Given the description of an element on the screen output the (x, y) to click on. 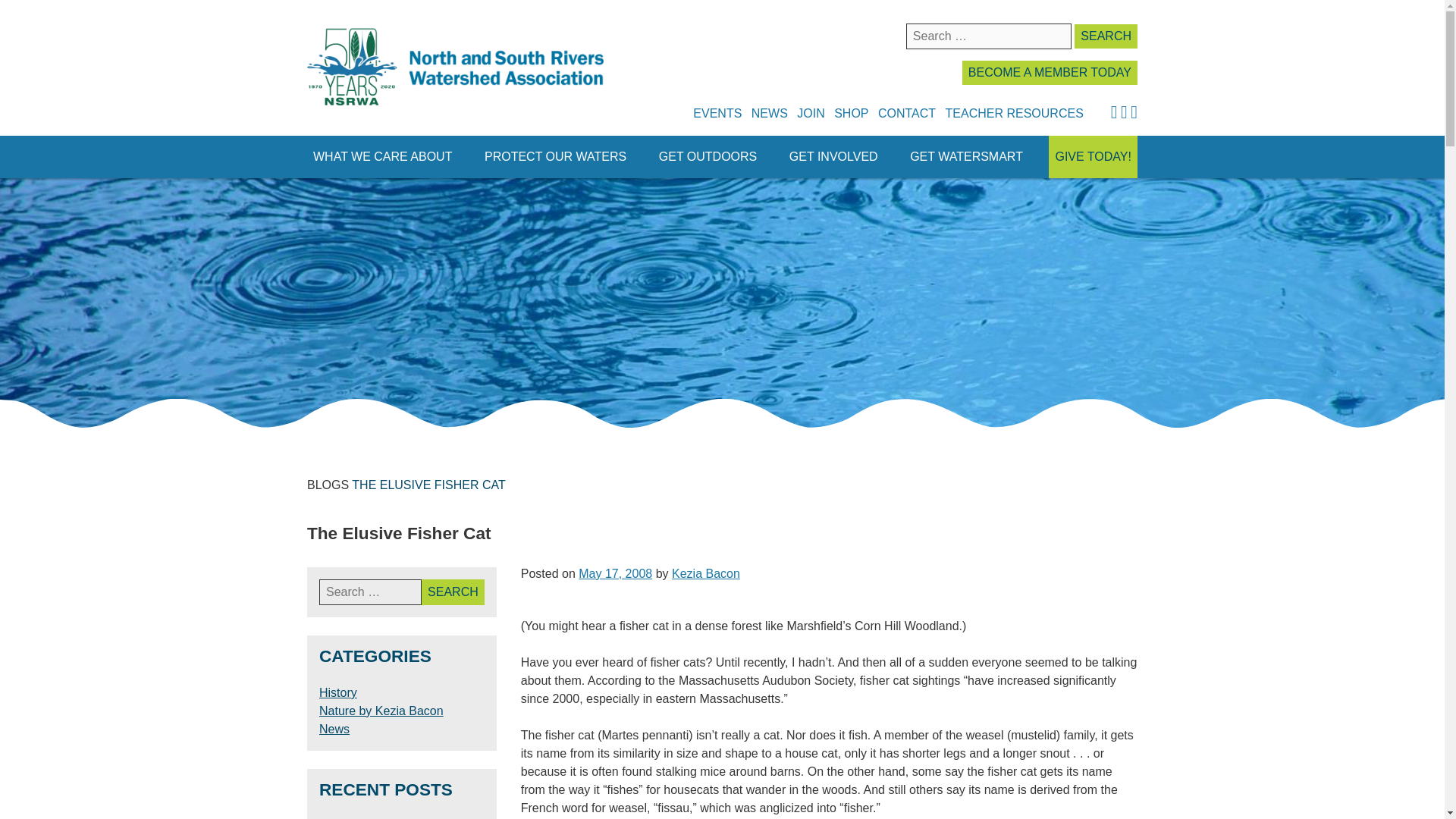
CONTACT (907, 112)
Search (1105, 36)
Search (453, 592)
TEACHER RESOURCES (1014, 112)
EVENTS (717, 112)
Search (1105, 36)
SHOP (850, 112)
BECOME A MEMBER TODAY (1049, 72)
JOIN (810, 112)
PROTECT OUR WATERS (555, 156)
